Given the description of an element on the screen output the (x, y) to click on. 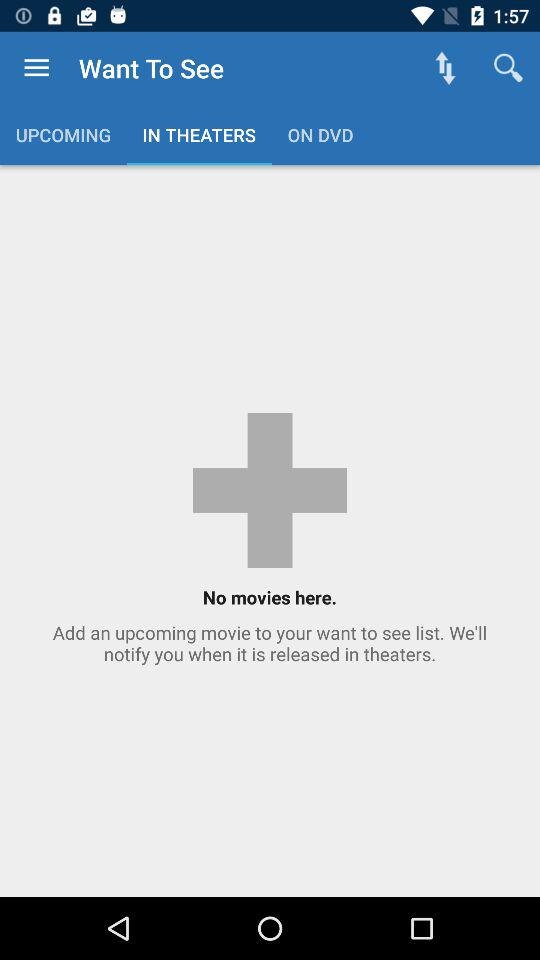
turn on the item next to the want to see app (444, 67)
